Given the description of an element on the screen output the (x, y) to click on. 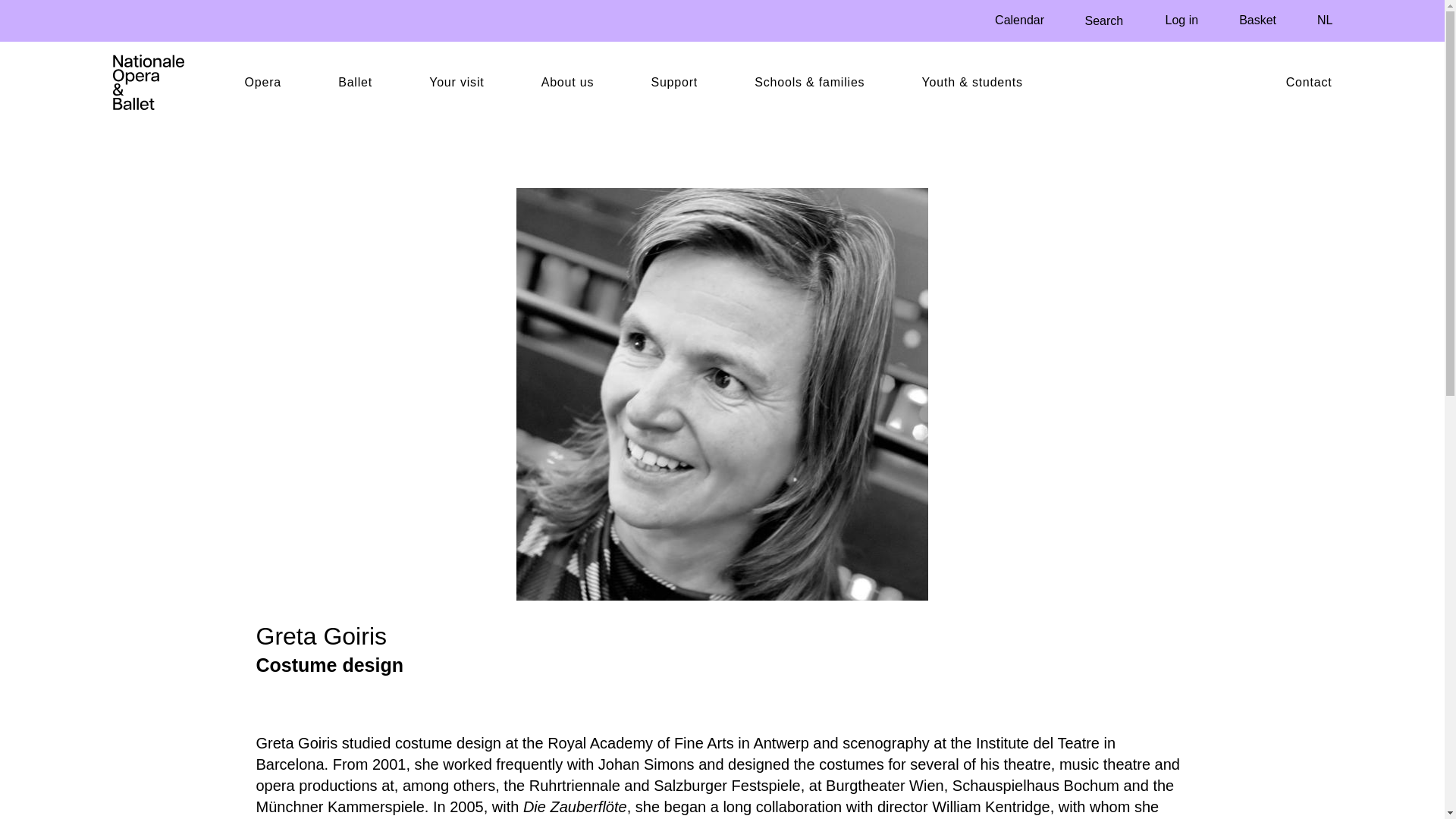
Ballet (373, 82)
Your visit (463, 82)
Opera (269, 82)
